Given the description of an element on the screen output the (x, y) to click on. 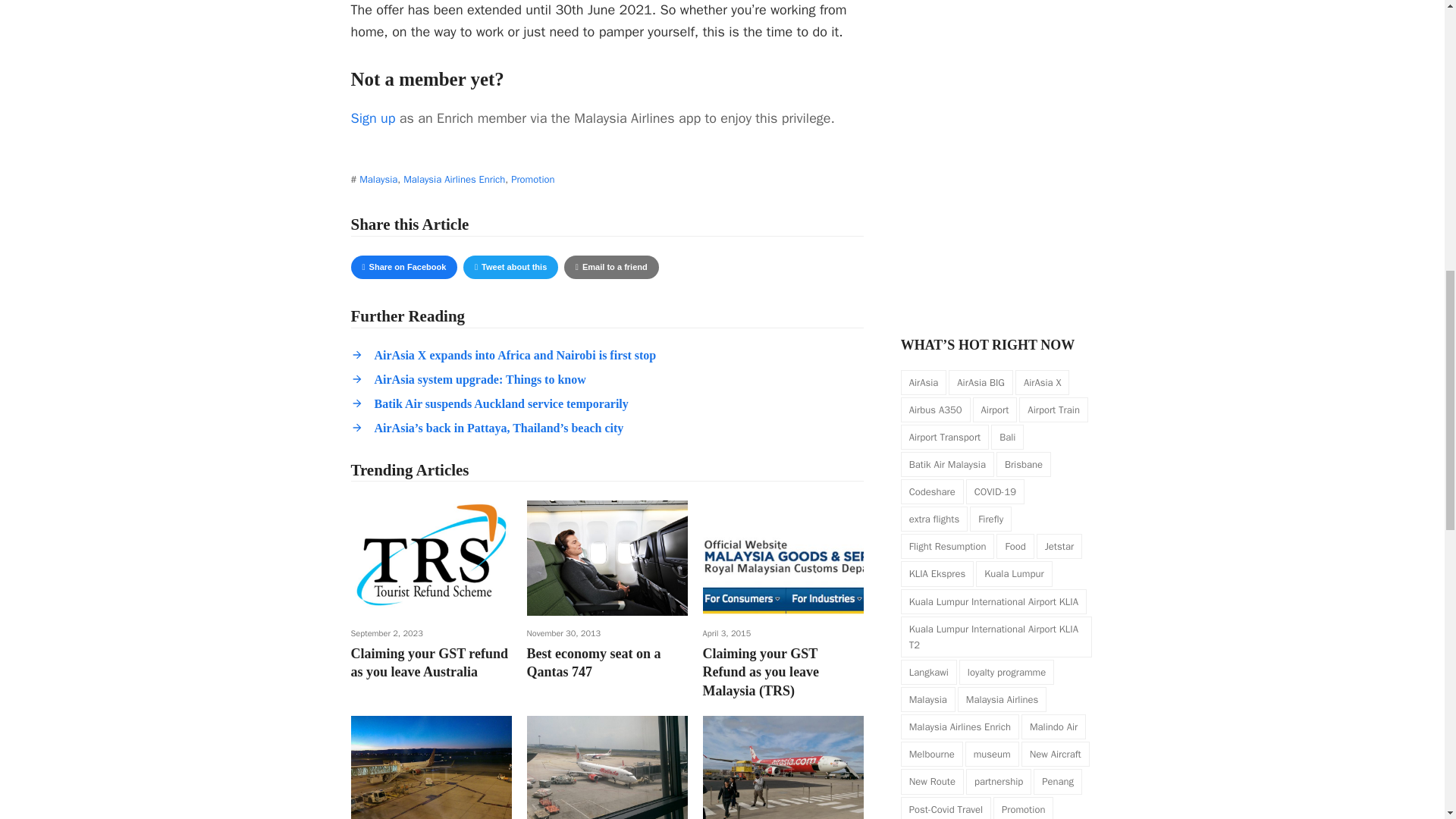
Malaysia Airlines Enrich (454, 178)
Share on Facebook (783, 767)
Sign up (403, 266)
Email to a friend (372, 117)
Malaysia (611, 266)
Tweet about this (378, 178)
Promotion (510, 266)
AirAsia system upgrade: Things to know (532, 178)
Batik Air suspends Auckland service temporarily (480, 379)
AirAsia X expands into Africa and Nairobi is first stop (501, 403)
